Given the description of an element on the screen output the (x, y) to click on. 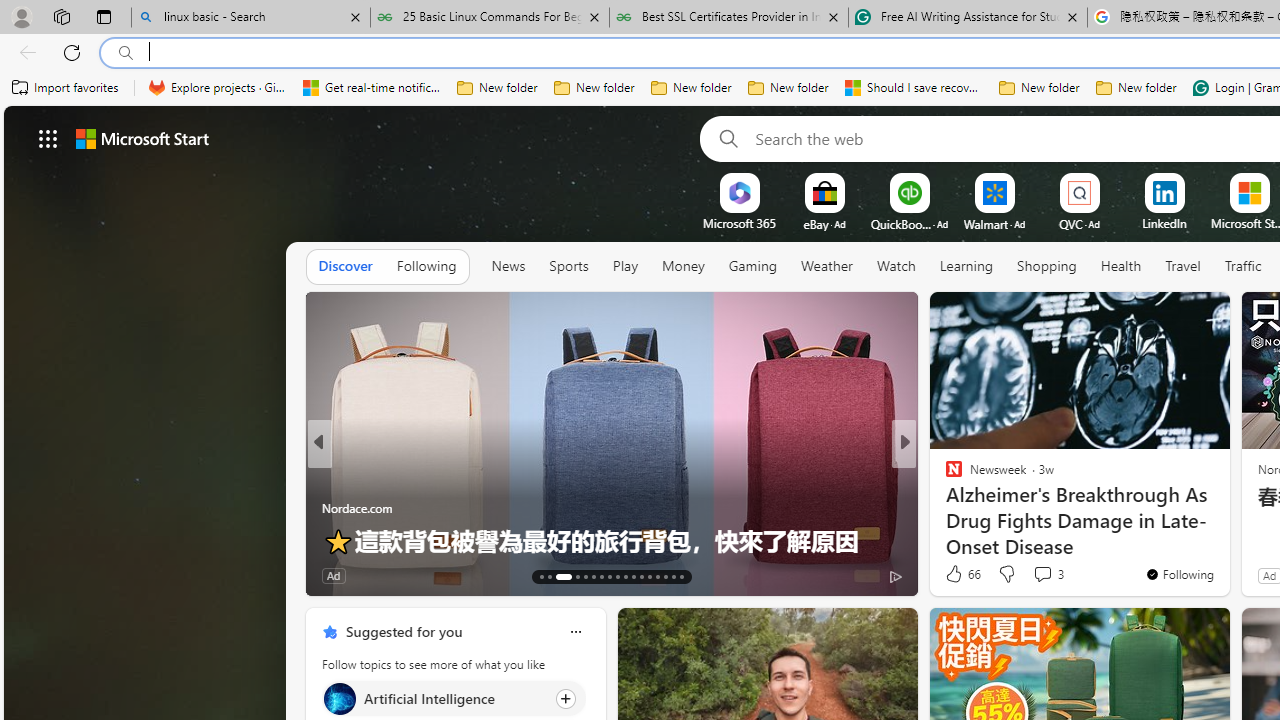
AutomationID: tab-25 (649, 576)
View comments 26 Comment (1051, 574)
477 Like (959, 574)
Gaming (752, 267)
AutomationID: tab-28 (673, 576)
Microsoft start (142, 138)
You're following Newsweek (1179, 573)
AutomationID: tab-14 (549, 576)
View comments 1 Comment (1035, 574)
Money (682, 267)
TechRadar (944, 507)
AutomationID: tab-15 (556, 576)
Travel (1183, 267)
